Given the description of an element on the screen output the (x, y) to click on. 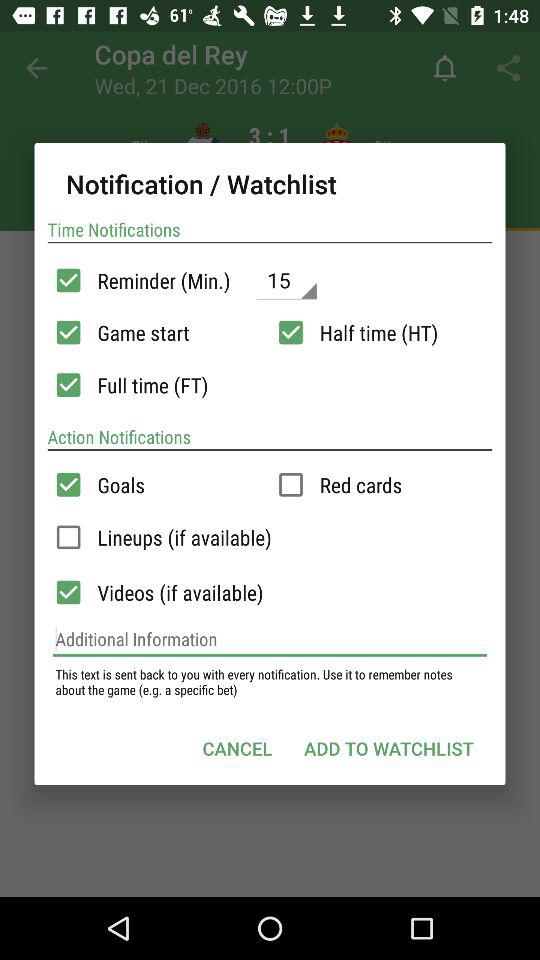
toggle game start (68, 332)
